Given the description of an element on the screen output the (x, y) to click on. 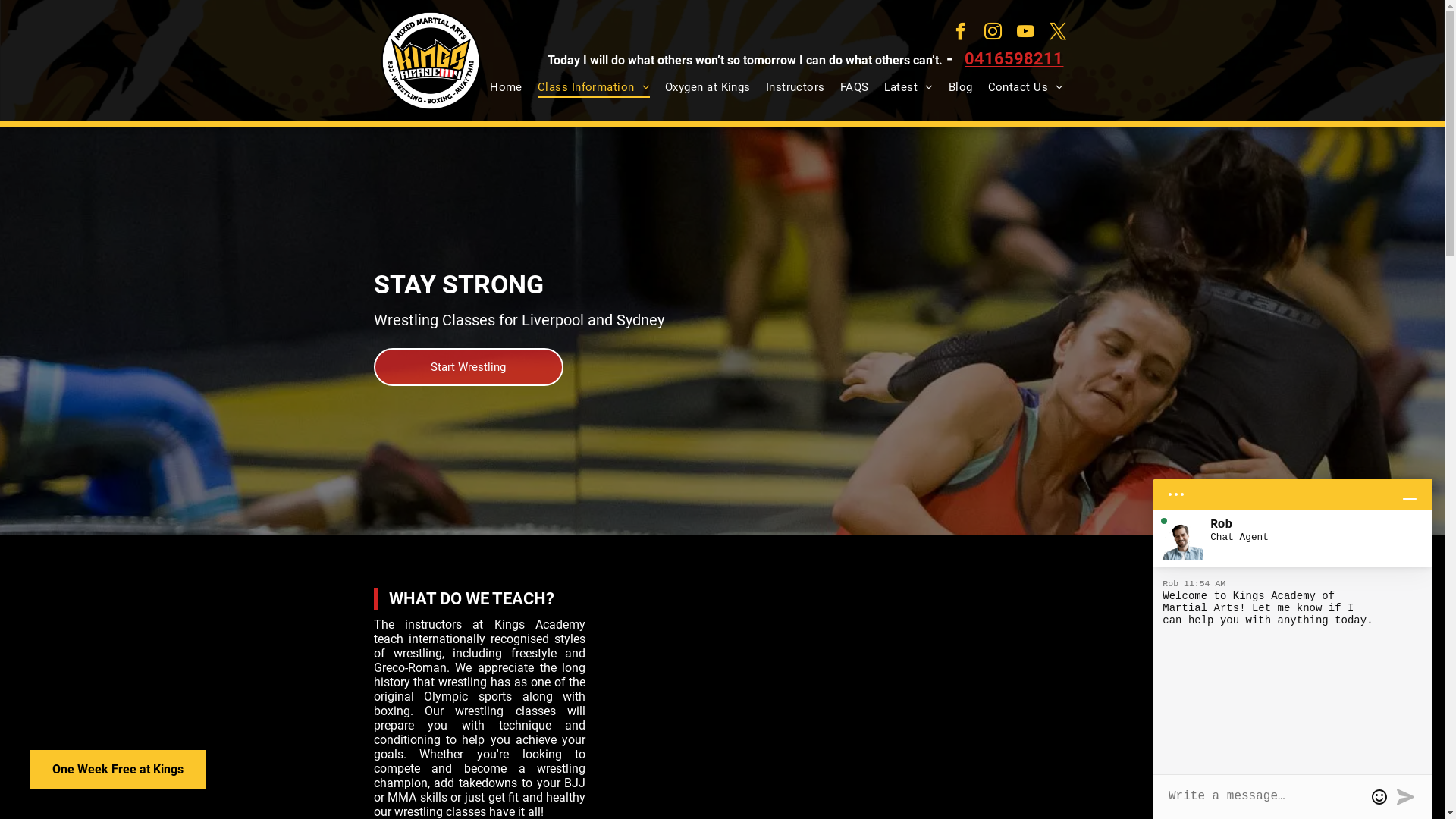
Instructors Element type: text (795, 86)
Blog Element type: text (960, 86)
Oxygen at Kings Element type: text (707, 86)
Contact Us Element type: text (1025, 86)
0416598211 Element type: text (1013, 58)
Home Element type: text (506, 86)
Latest Element type: text (908, 86)
Start Wrestling Element type: text (467, 366)
FAQS Element type: text (854, 86)
Class Information Element type: text (593, 86)
One Week Free at Kings Element type: text (117, 768)
